Given the description of an element on the screen output the (x, y) to click on. 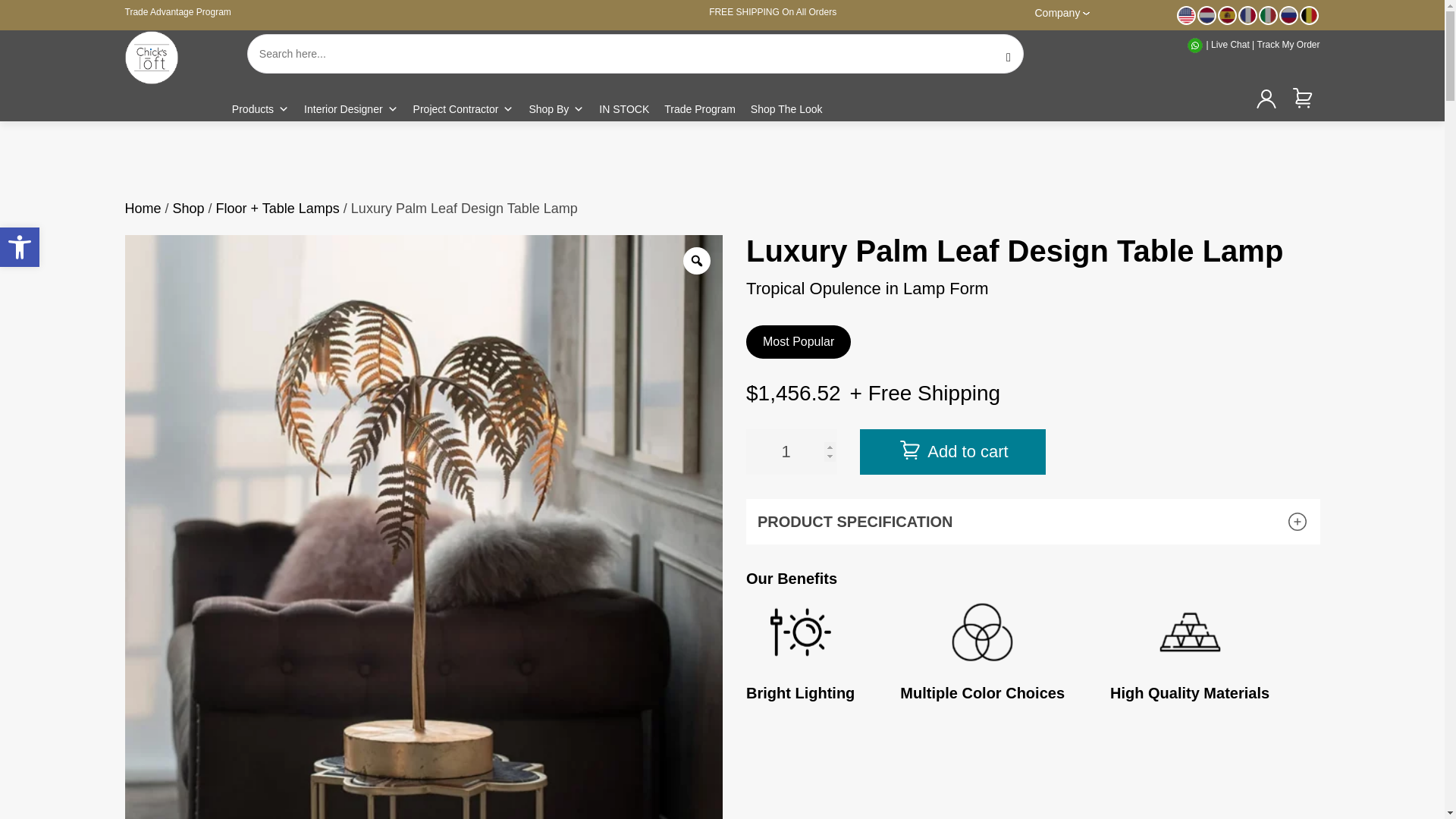
Trade Advantage Program (19, 246)
1 (176, 10)
Qty (791, 452)
Spec 1-15177 (791, 452)
Accessibility Tools (260, 109)
Accessibility Tools (19, 246)
Live Chat (19, 247)
Company (1230, 44)
Track My Order (1061, 11)
